Given the description of an element on the screen output the (x, y) to click on. 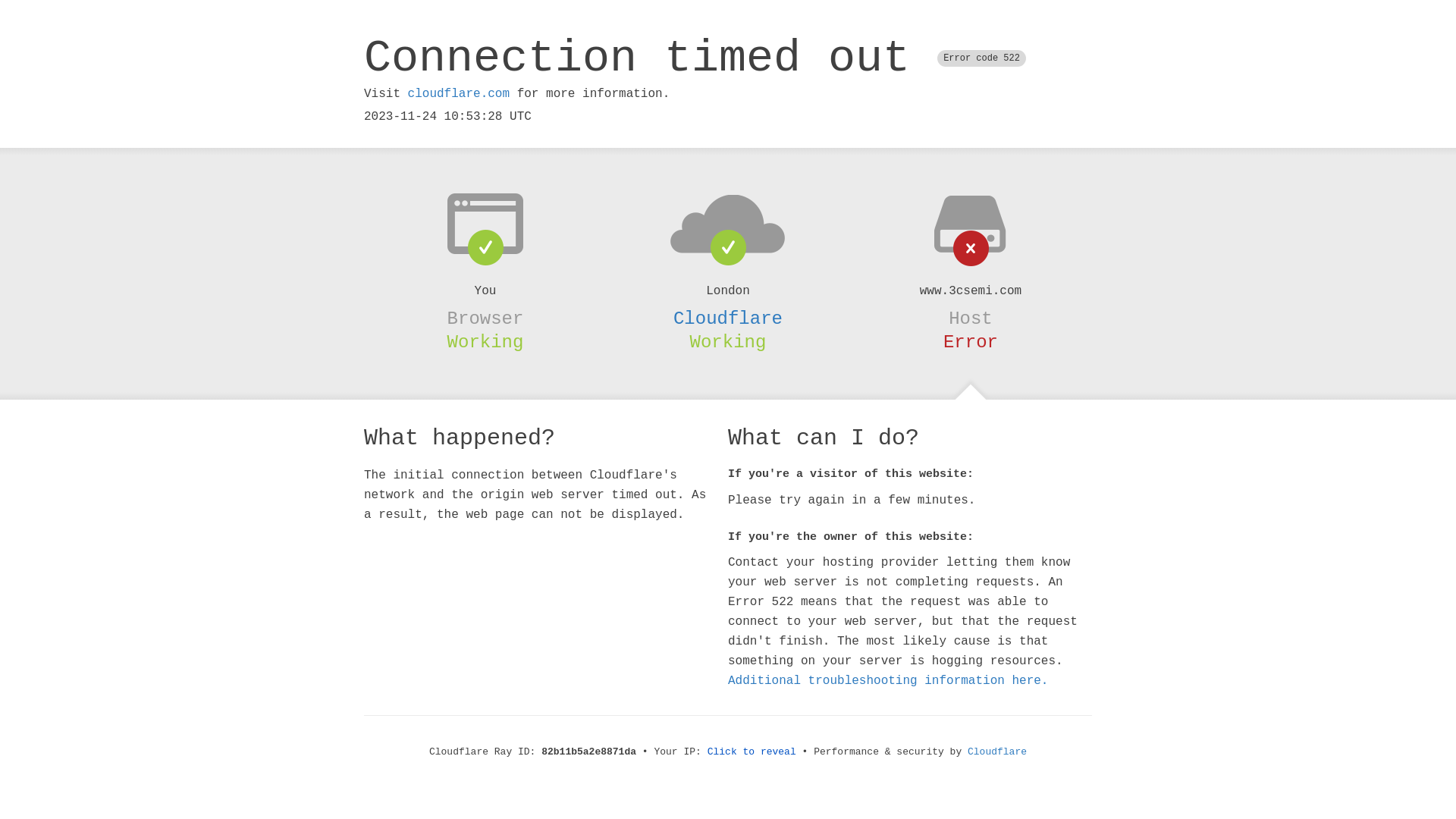
Cloudflare Element type: text (727, 318)
Additional troubleshooting information here. Element type: text (888, 680)
Cloudflare Element type: text (996, 751)
Click to reveal Element type: text (751, 751)
cloudflare.com Element type: text (458, 93)
